Given the description of an element on the screen output the (x, y) to click on. 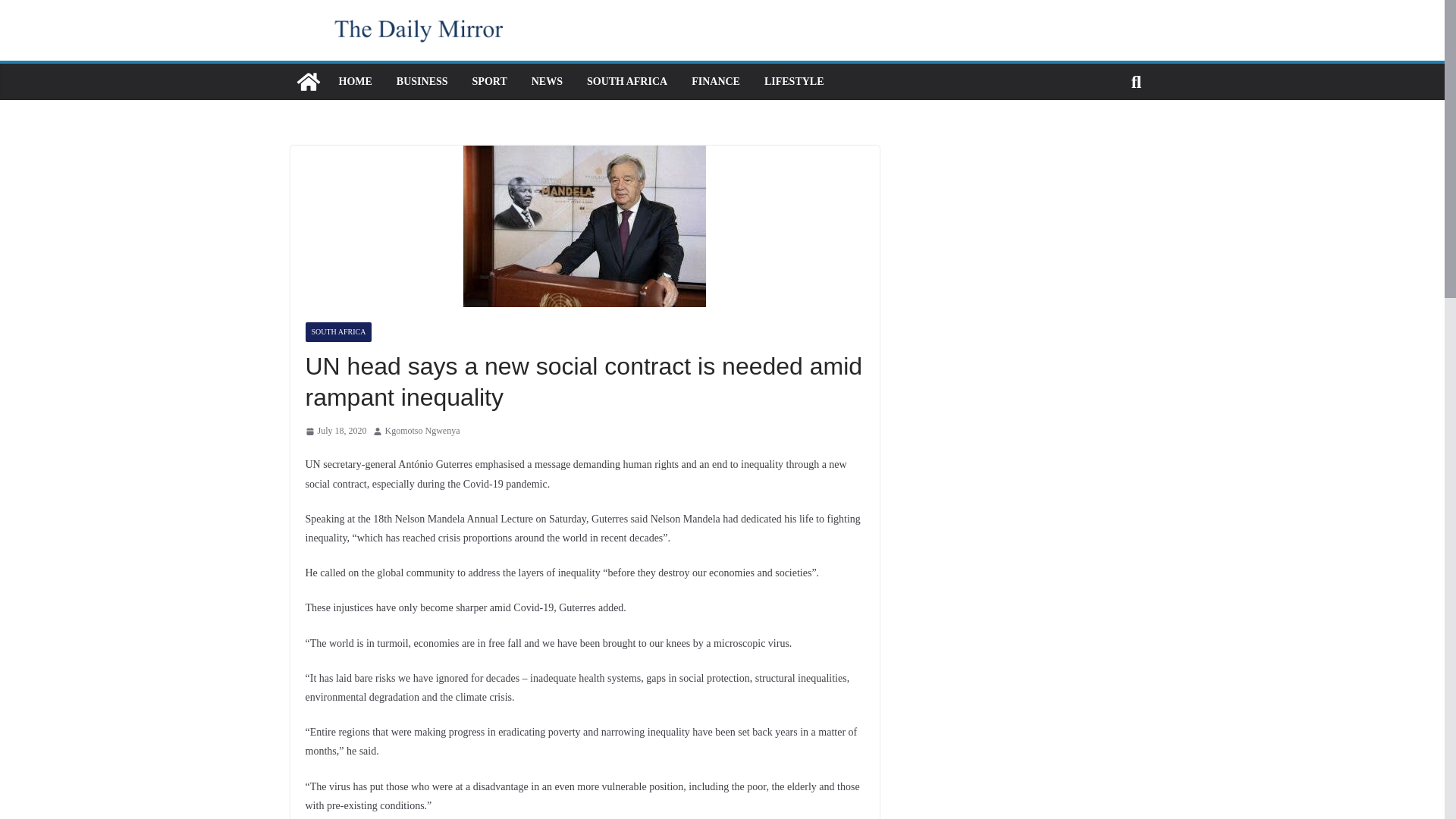
Kgomotso Ngwenya (422, 431)
NEWS (546, 81)
LIFESTYLE (794, 81)
8:28 pm (335, 431)
HOME (354, 81)
SOUTH AFRICA (337, 332)
SOUTH AFRICA (626, 81)
FINANCE (715, 81)
BUSINESS (422, 81)
The Daily Mirror (307, 81)
